Given the description of an element on the screen output the (x, y) to click on. 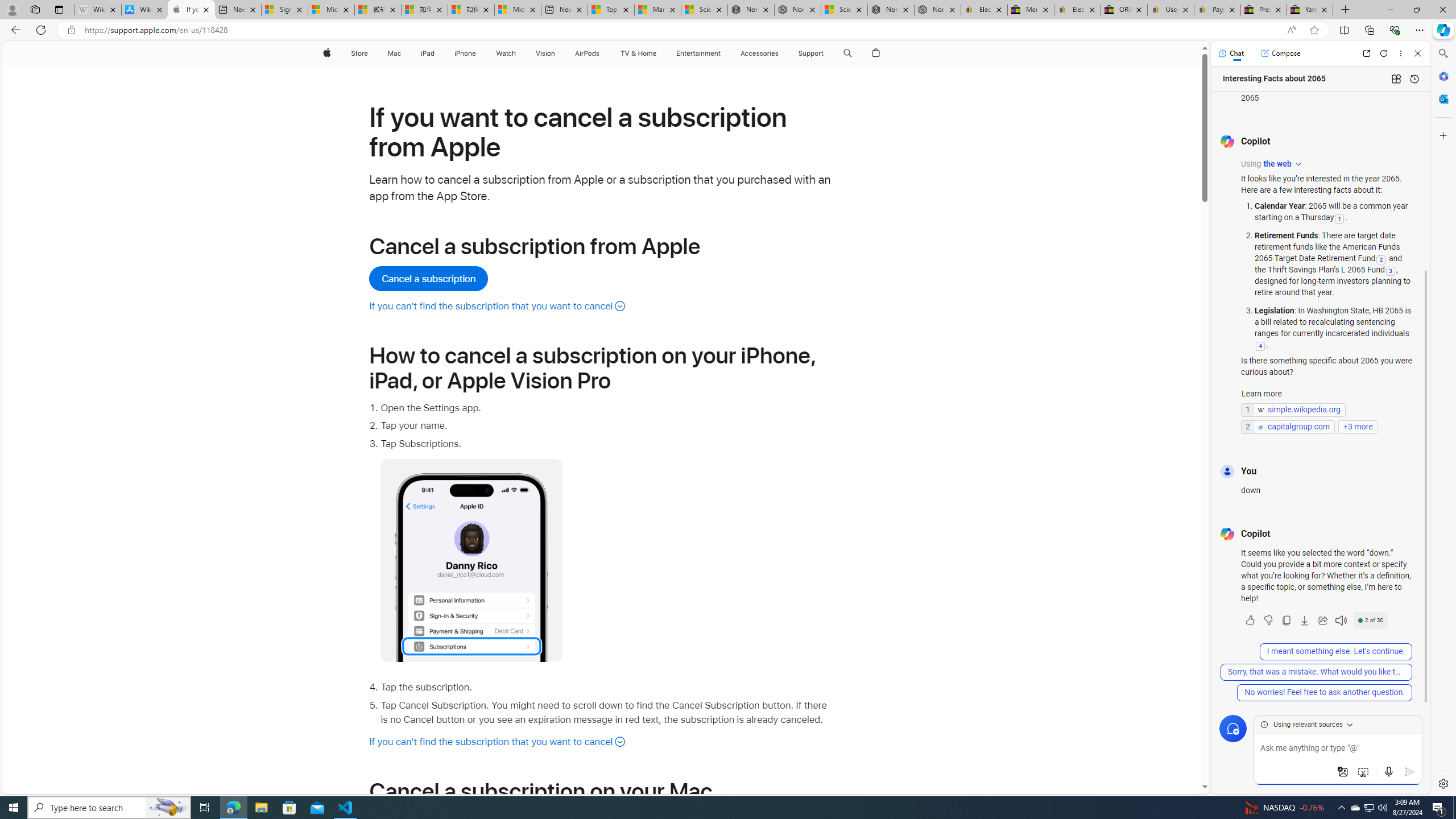
Watch menu (518, 53)
Class: globalnav-item globalnav-search shift-0-1 (847, 53)
Tap Subscriptions. (607, 549)
Apple (325, 53)
TV and Home (637, 53)
